Given the description of an element on the screen output the (x, y) to click on. 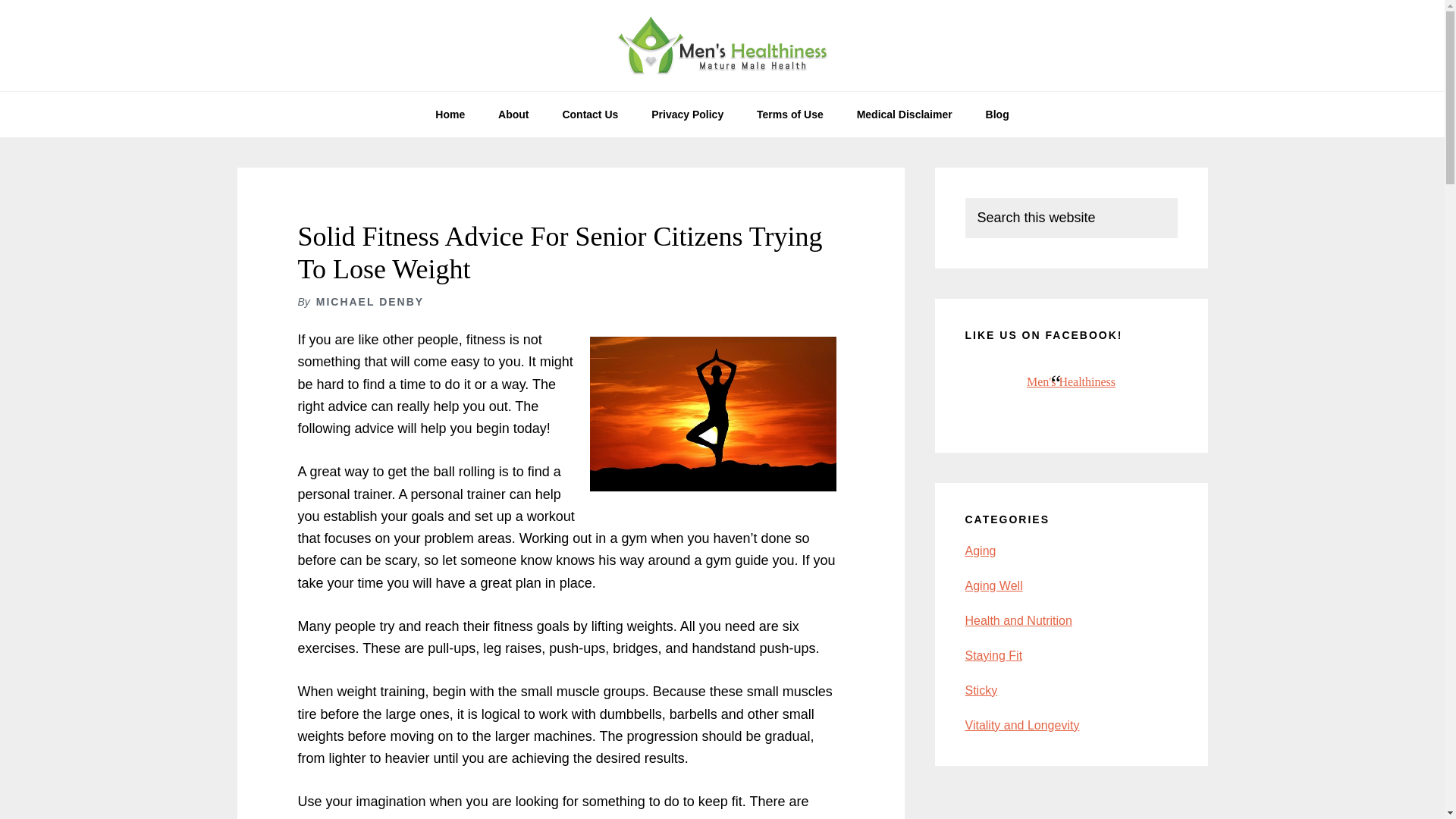
Sticky (980, 689)
Privacy Policy (687, 114)
About (513, 114)
Medical Disclaimer (904, 114)
Men's Healthiness (1070, 381)
Blog (998, 114)
Vitality and Longevity (1020, 725)
Contact Us (590, 114)
